Given the description of an element on the screen output the (x, y) to click on. 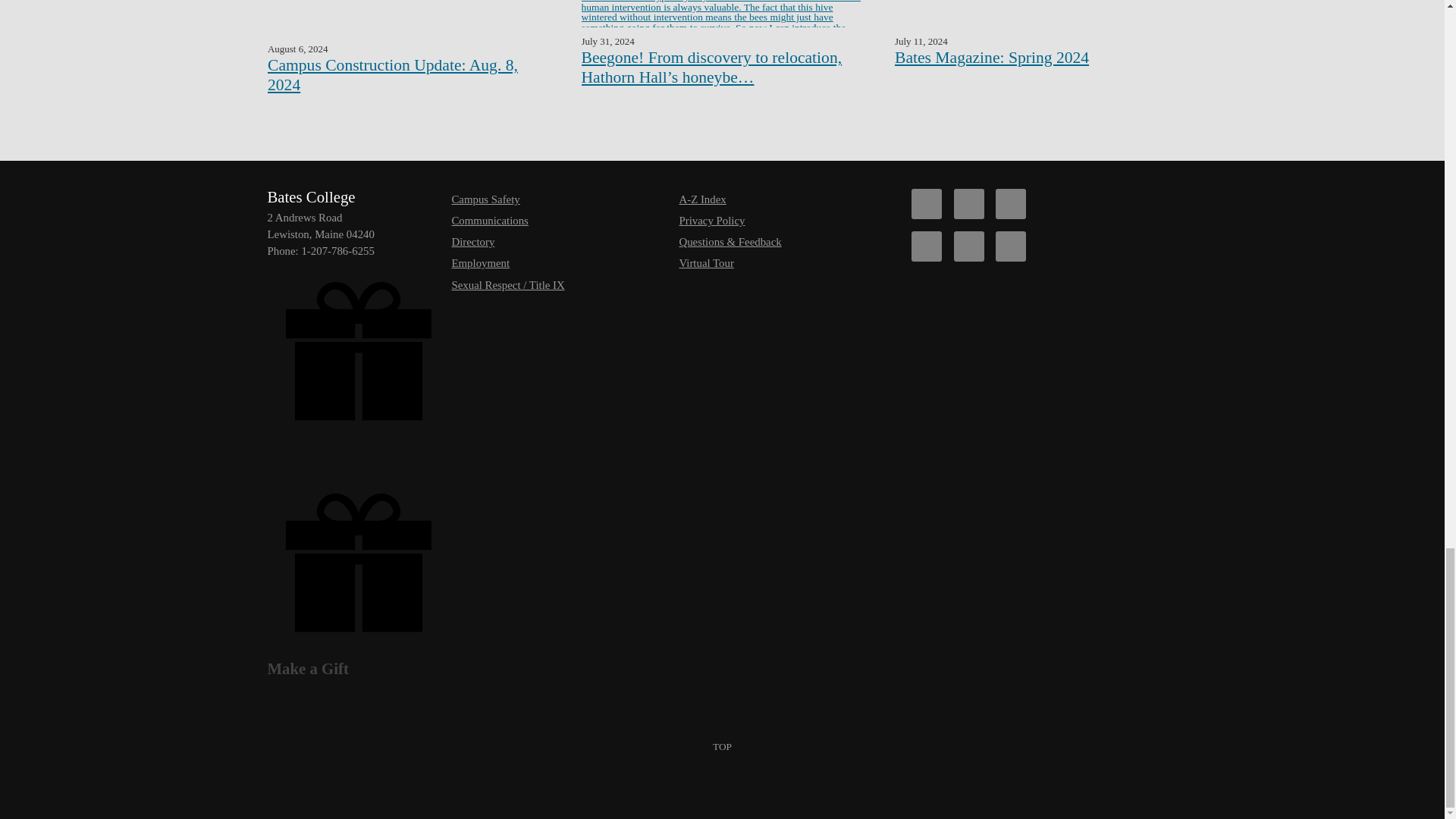
YouTube icon (968, 245)
Twitter icon (968, 204)
Tiktok icon (1010, 204)
Instagram icon (926, 245)
LinkedIn icon (1010, 245)
Facebook icon (926, 204)
